Given the description of an element on the screen output the (x, y) to click on. 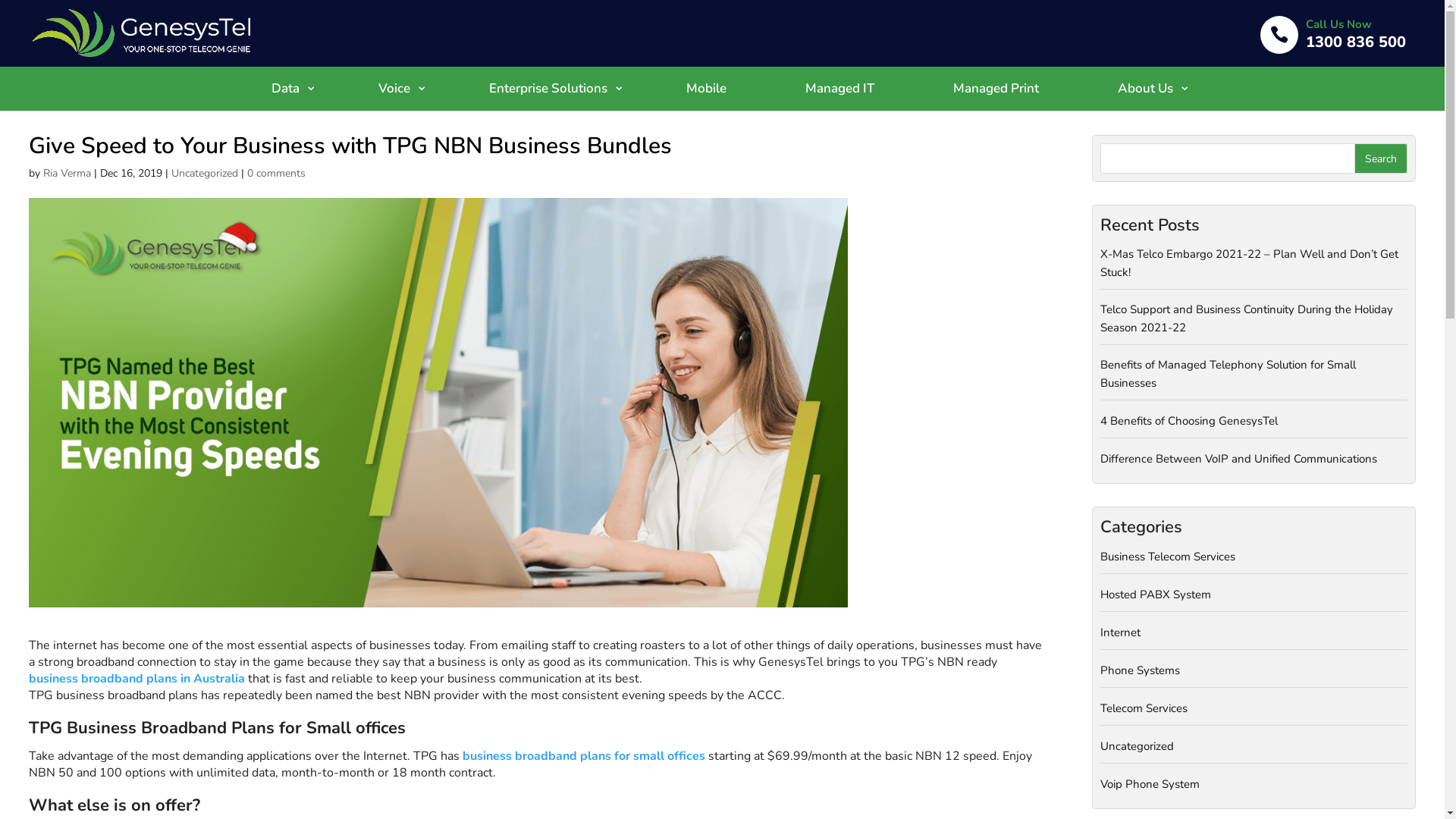
Uncategorized Element type: text (204, 173)
Hosted PABX System Element type: text (1253, 598)
Managed Print Element type: text (995, 88)
Phone Systems Element type: text (1253, 674)
4 Benefits of Choosing GenesysTel Element type: text (1253, 424)
business broadband plans for small offices Element type: text (583, 755)
0 comments Element type: text (276, 173)
Internet Element type: text (1253, 636)
Voice Element type: text (394, 88)
Difference Between VoIP and Unified Communications Element type: text (1253, 458)
Data Element type: text (285, 88)
Managed IT Element type: text (839, 88)
Mobile Element type: text (705, 88)
Enterprise Solutions Element type: text (547, 88)
Voip Phone System Element type: text (1253, 784)
Benefits of Managed Telephony Solution for Small Businesses Element type: text (1253, 377)
Ria Verma Element type: text (67, 173)
1300 836 500 Element type: text (1355, 41)
Business Telecom Services Element type: text (1253, 560)
business broadband plans in Australia Element type: text (136, 678)
Uncategorized Element type: text (1253, 750)
Search Element type: text (1380, 158)
About Us Element type: text (1145, 88)
Telecom Services Element type: text (1253, 712)
